Given the description of an element on the screen output the (x, y) to click on. 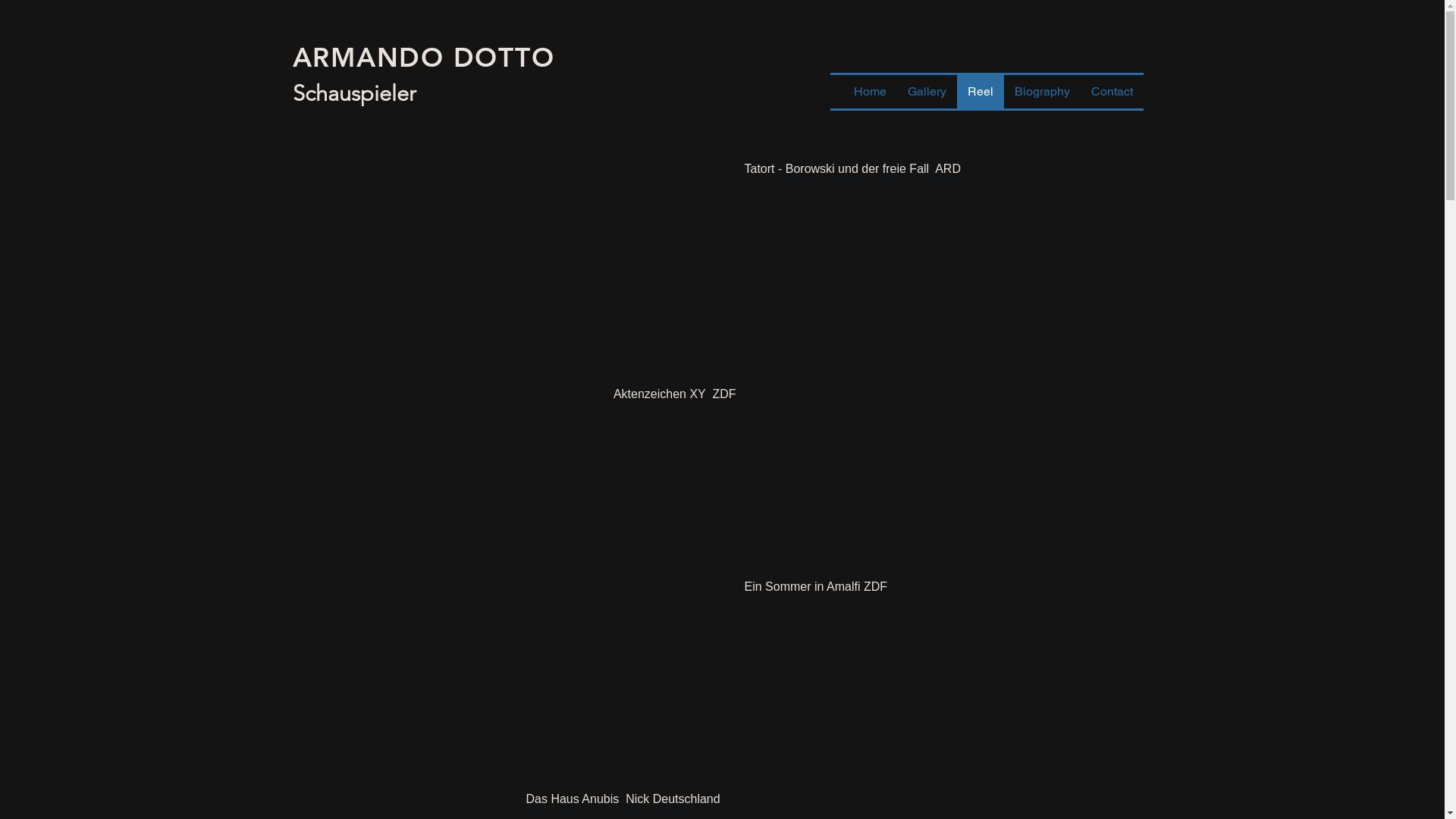
ARMANDO DOTTO Element type: text (423, 56)
External YouTube Element type: hover (556, 250)
Gallery Element type: text (926, 90)
Biography Element type: text (1042, 90)
External YouTube Element type: hover (904, 452)
External YouTube Element type: hover (556, 654)
Schauspieler Element type: text (354, 91)
Contact Element type: text (1110, 90)
Reel Element type: text (980, 90)
Home Element type: text (870, 90)
